Given the description of an element on the screen output the (x, y) to click on. 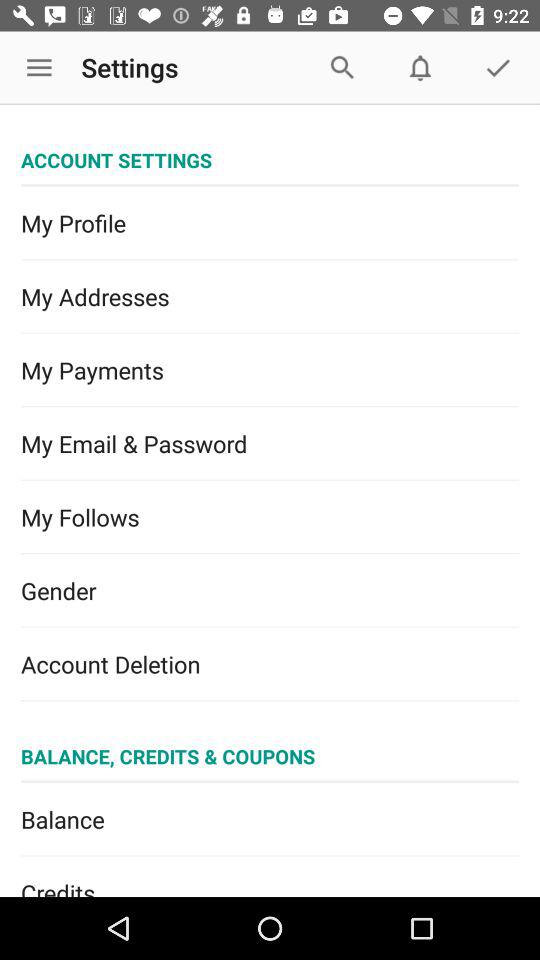
press item above my email & password icon (270, 370)
